Given the description of an element on the screen output the (x, y) to click on. 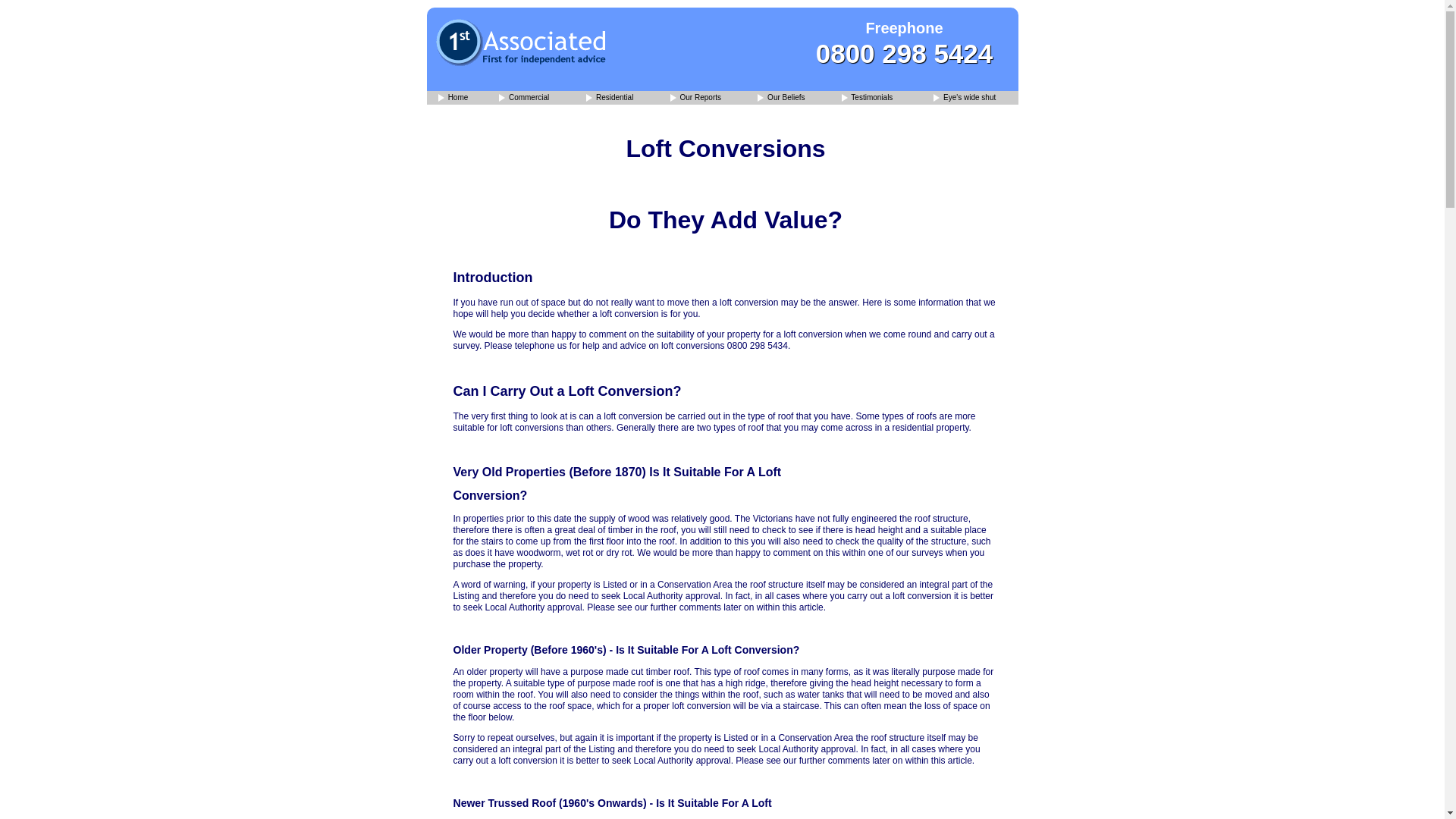
Testimonials (867, 97)
Our Beliefs (780, 97)
0800 298 5424 (903, 52)
Residential (609, 97)
Our Beliefs (780, 97)
Commercial (523, 97)
Our Reports (695, 97)
1st Associated Chartered Surveyors (452, 97)
Eye's wide shut (964, 97)
Our Property Reports (695, 97)
